Given the description of an element on the screen output the (x, y) to click on. 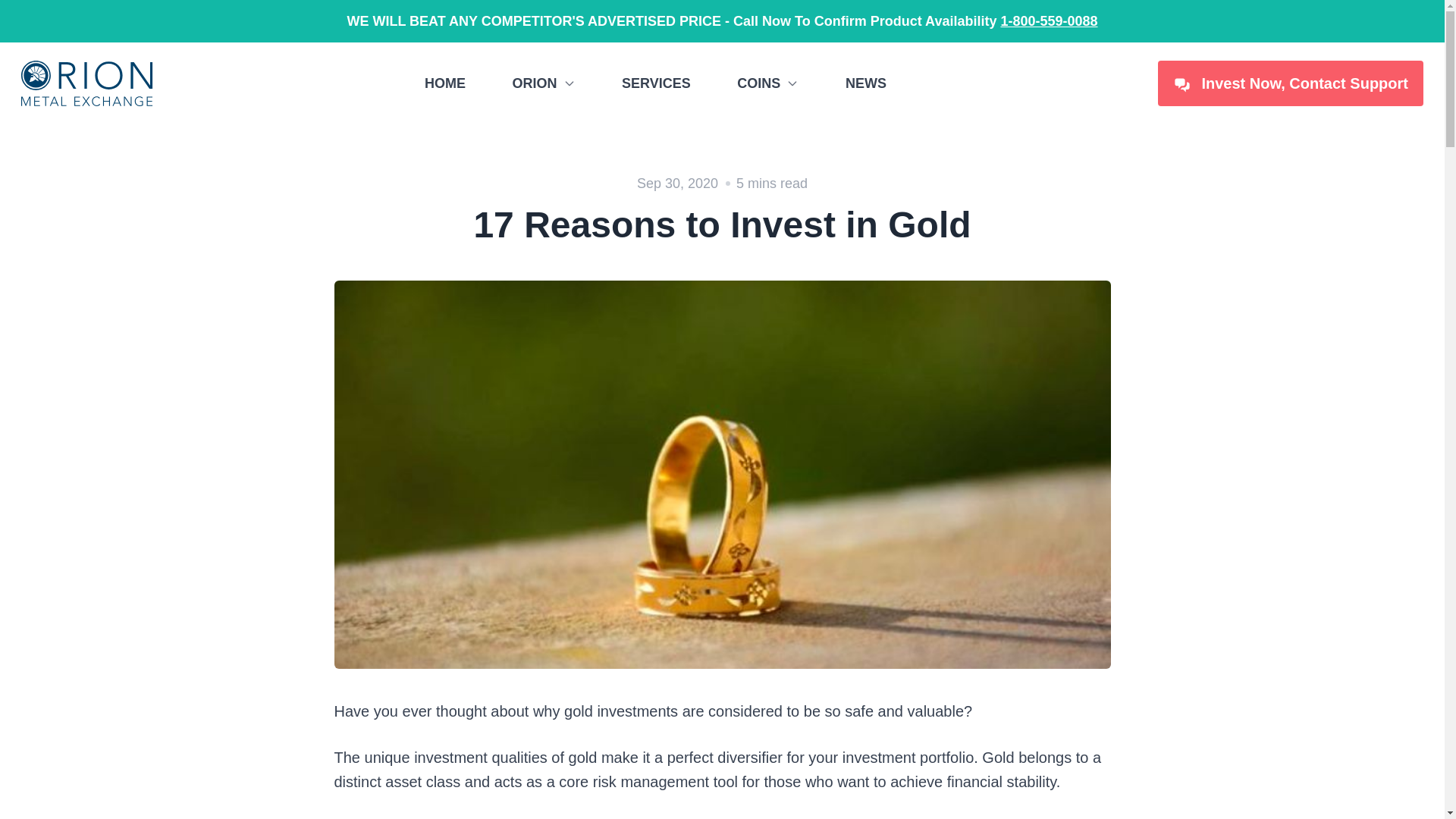
SERVICES (655, 83)
NEWS (865, 83)
COINS (766, 83)
1-800-559-0088 (1048, 20)
HOME (445, 83)
Invest Now, Contact Support (1290, 83)
ORION (543, 83)
